Given the description of an element on the screen output the (x, y) to click on. 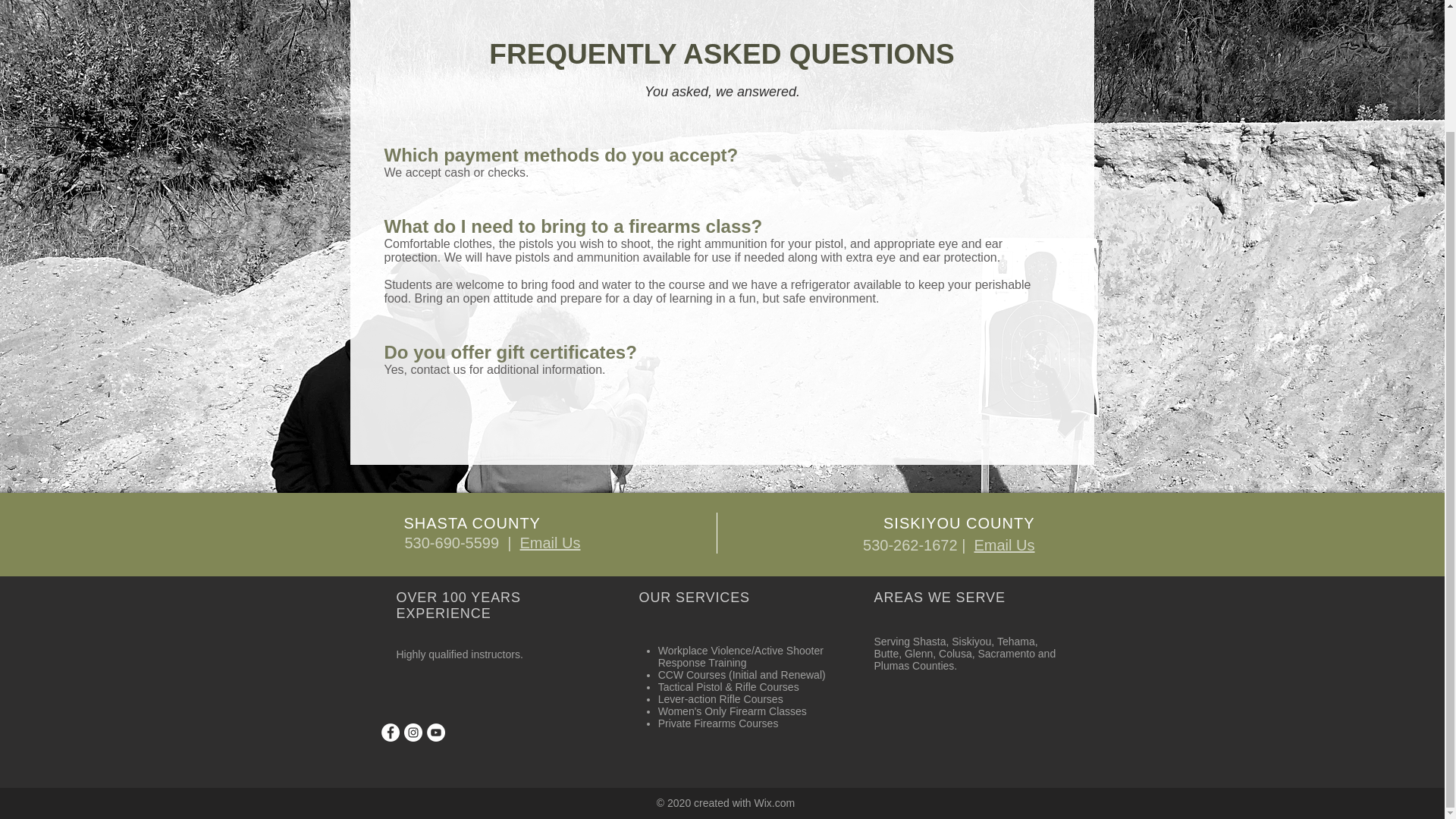
Wix.com (774, 802)
Email Us (549, 542)
Email Us (1003, 545)
